Given the description of an element on the screen output the (x, y) to click on. 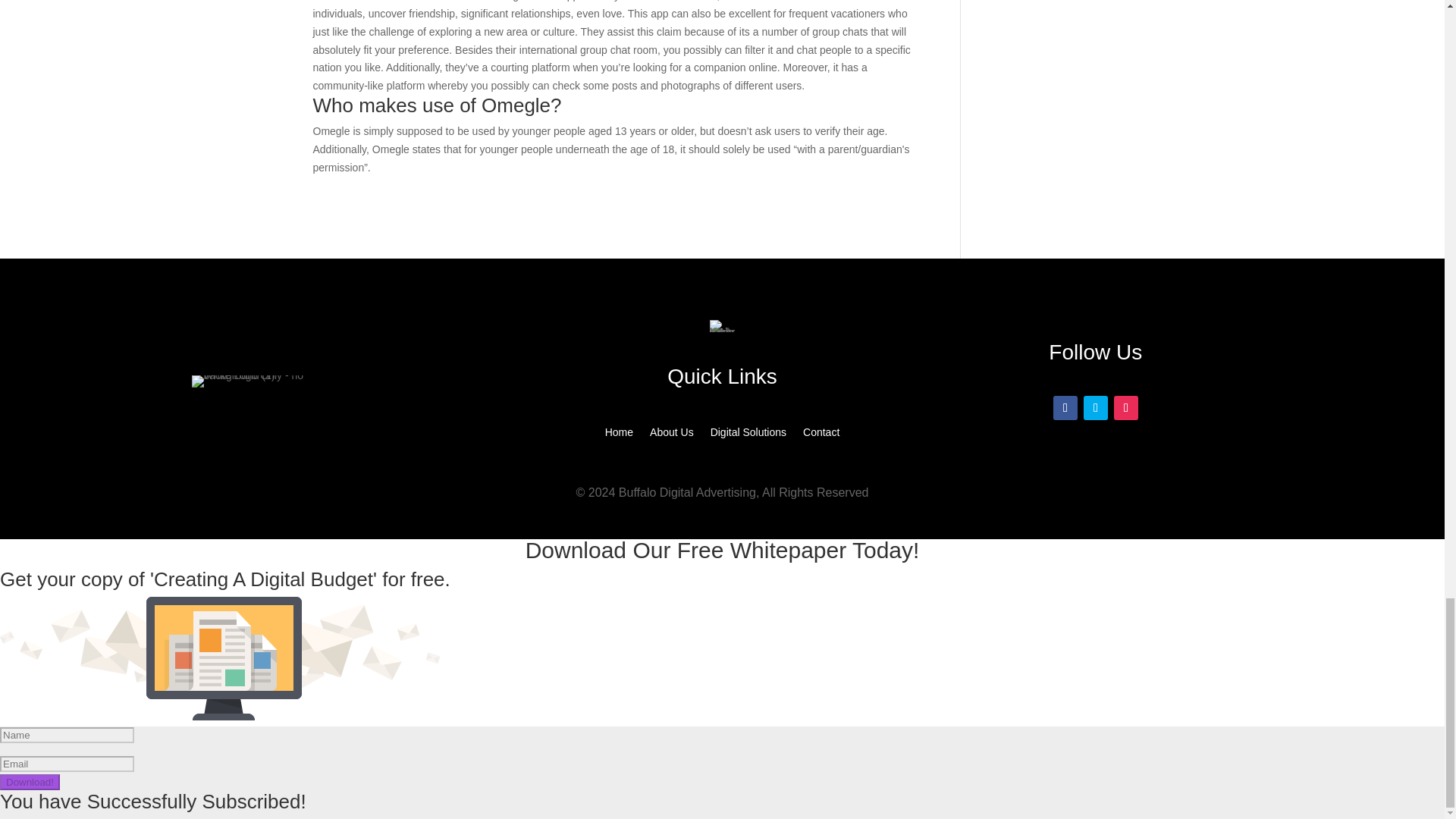
Home (619, 434)
Contact (821, 434)
Follow on Instagram (1125, 407)
Follow on Twitter (1095, 407)
About Us (671, 434)
Follow on Facebook (1064, 407)
Download! (29, 781)
Digital Solutions (748, 434)
